Given the description of an element on the screen output the (x, y) to click on. 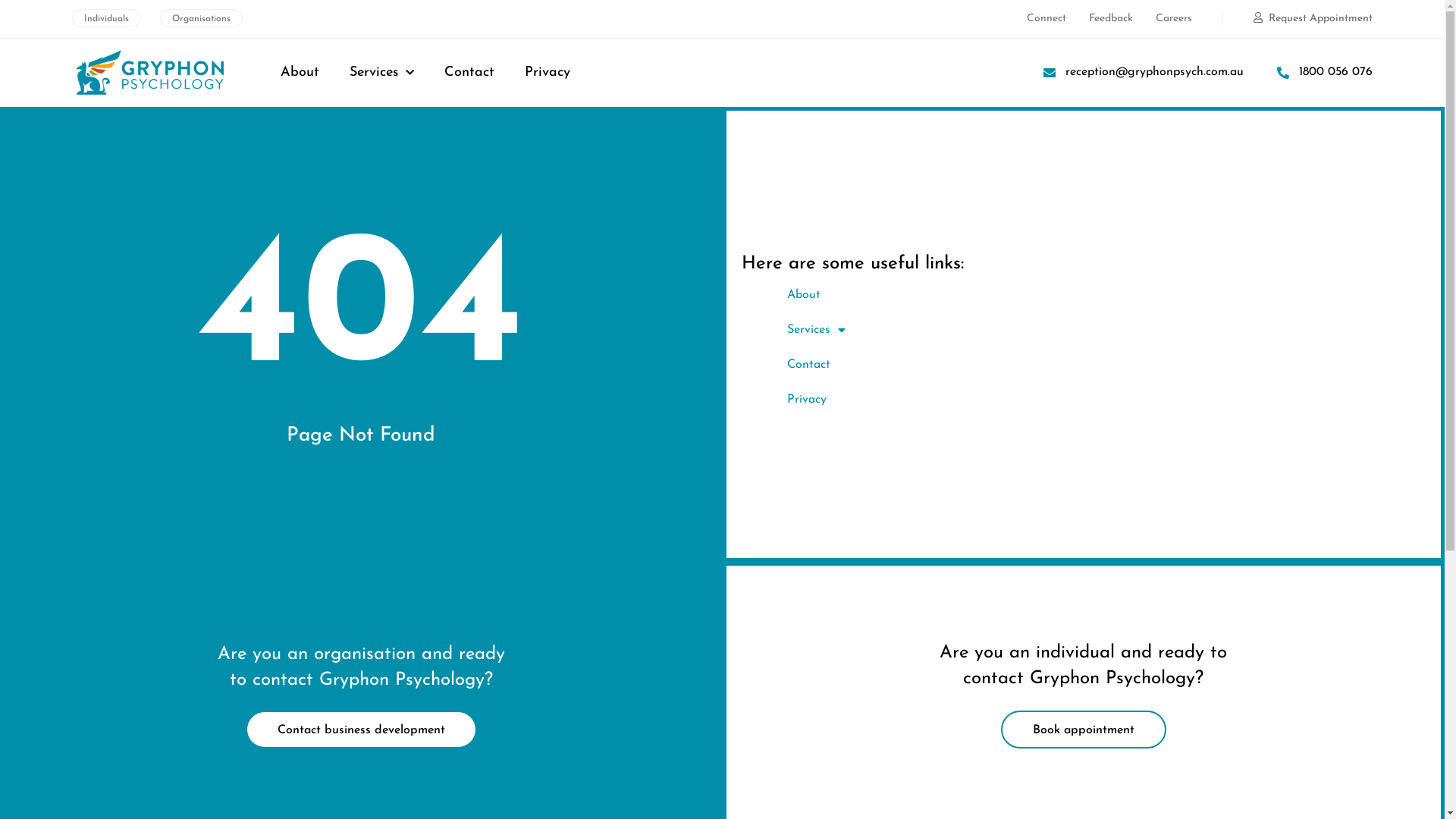
Privacy Element type: text (1098, 399)
Contact Element type: text (469, 72)
About Element type: text (299, 72)
About Element type: text (1098, 294)
Organisations Element type: text (201, 18)
reception@gryphonpsych.com.au Element type: text (1141, 72)
Careers Element type: text (1173, 18)
Individuals Element type: text (106, 18)
Services Element type: text (1098, 329)
Privacy Element type: text (547, 72)
Book appointment Element type: text (1083, 729)
Request Appointment Element type: text (1312, 18)
Contact Element type: text (1098, 364)
Contact business development Element type: text (361, 729)
Services Element type: text (381, 72)
1800 056 076 Element type: text (1323, 72)
Feedback Element type: text (1110, 18)
Connect Element type: text (1046, 18)
